Given the description of an element on the screen output the (x, y) to click on. 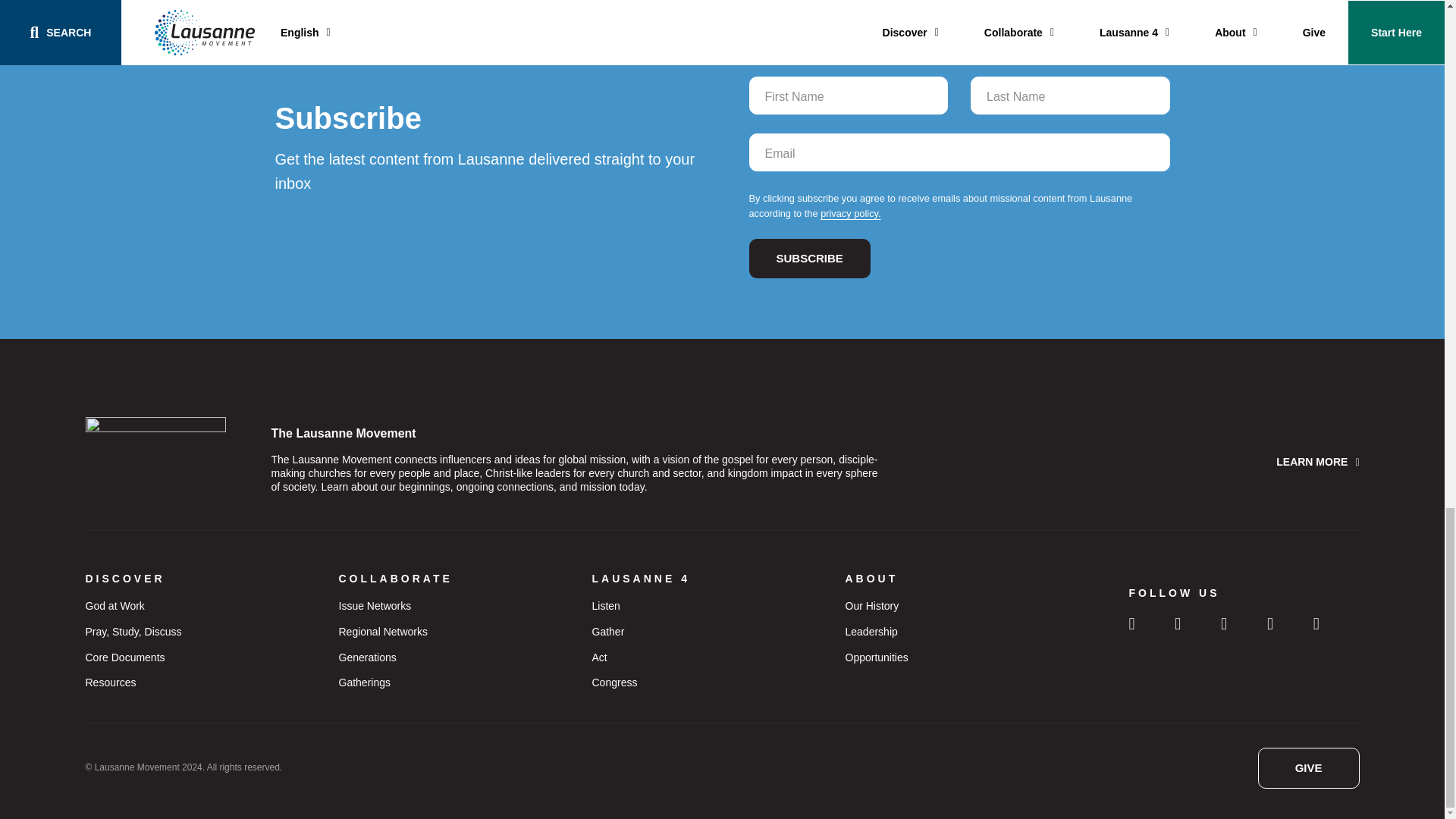
Subscribe (809, 258)
